Given the description of an element on the screen output the (x, y) to click on. 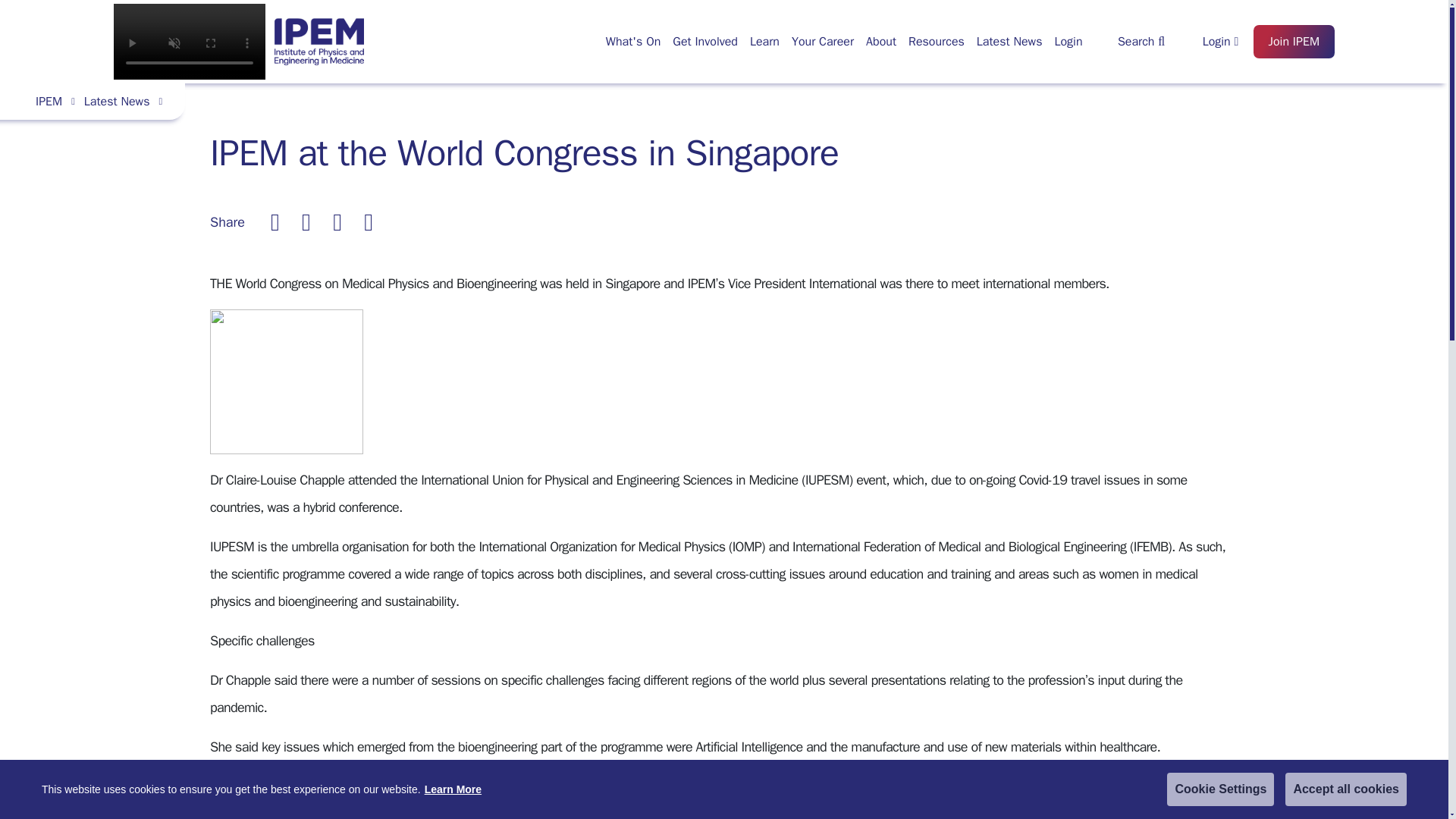
What's On (632, 41)
Get Involved (705, 41)
About (881, 41)
Learn (765, 41)
Your Career (823, 41)
